Given the description of an element on the screen output the (x, y) to click on. 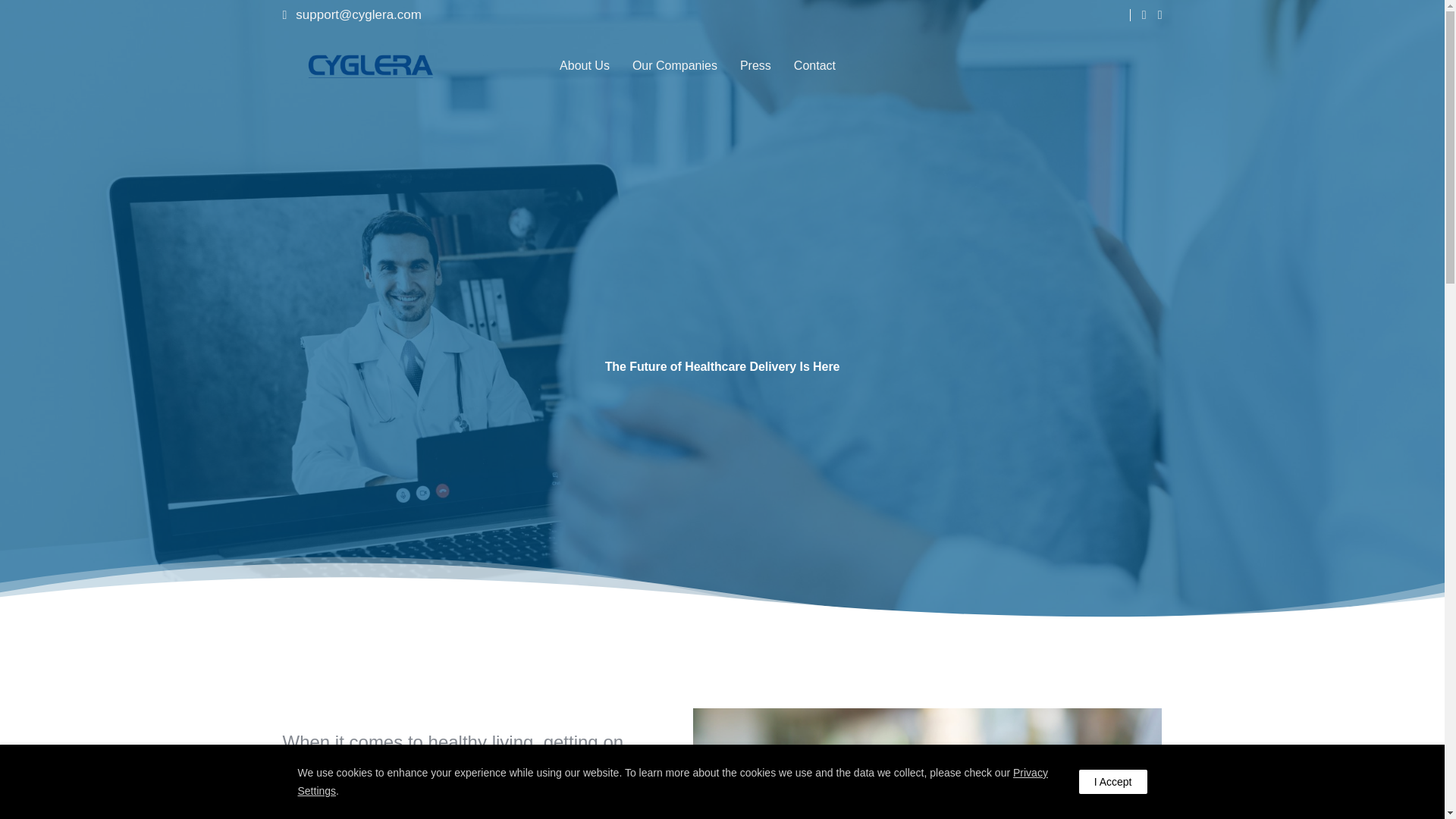
Contact (814, 65)
Press (755, 65)
Privacy Settings (671, 781)
Contact (814, 65)
Our Companies (674, 65)
Our Companies (674, 65)
About Us (584, 65)
Closeup of business woman hand typing on laptop keyboard (927, 763)
About Us (584, 65)
Press (755, 65)
